Given the description of an element on the screen output the (x, y) to click on. 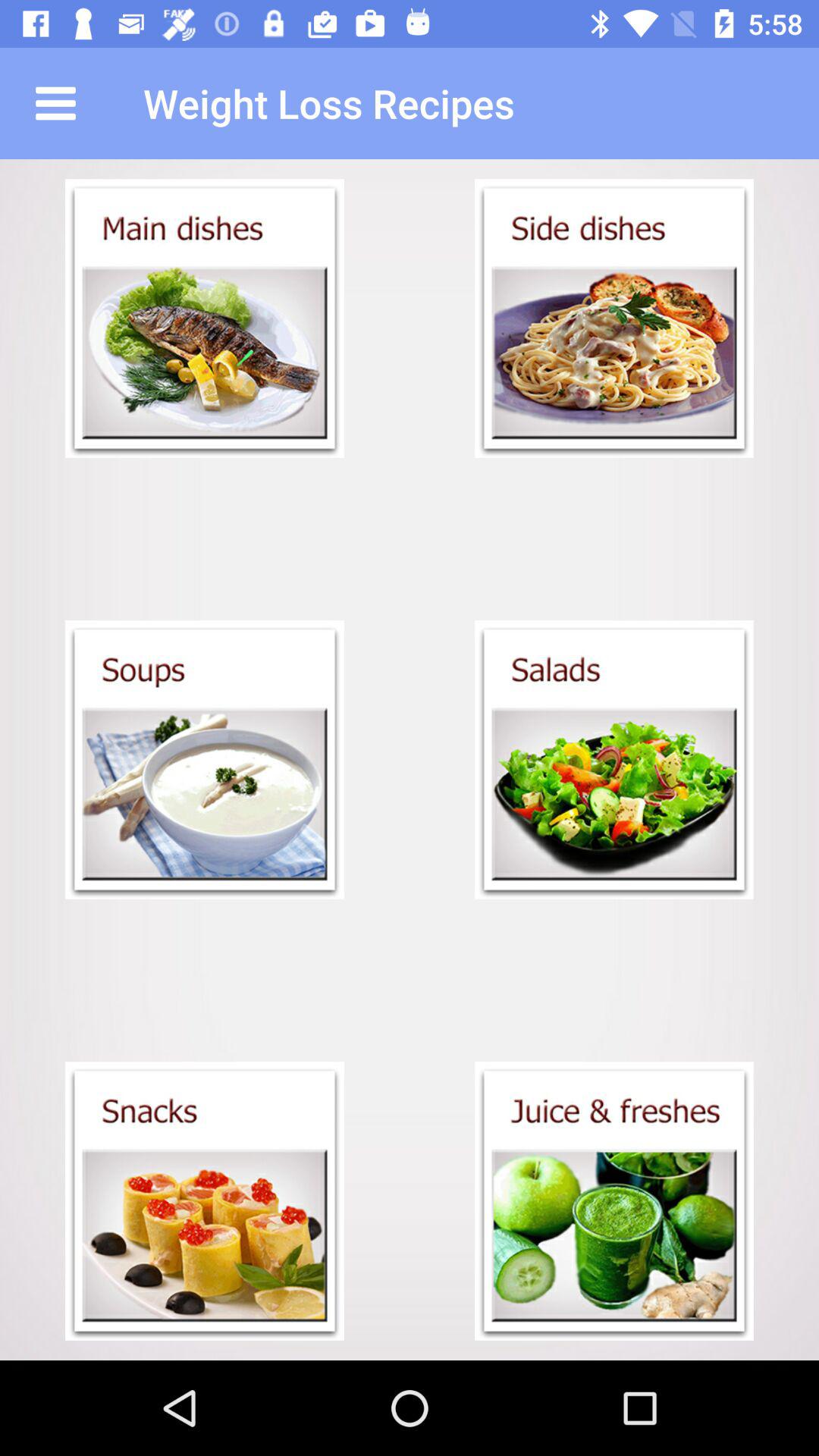
a thumbnail that takes you to the soup catagory (204, 759)
